Given the description of an element on the screen output the (x, y) to click on. 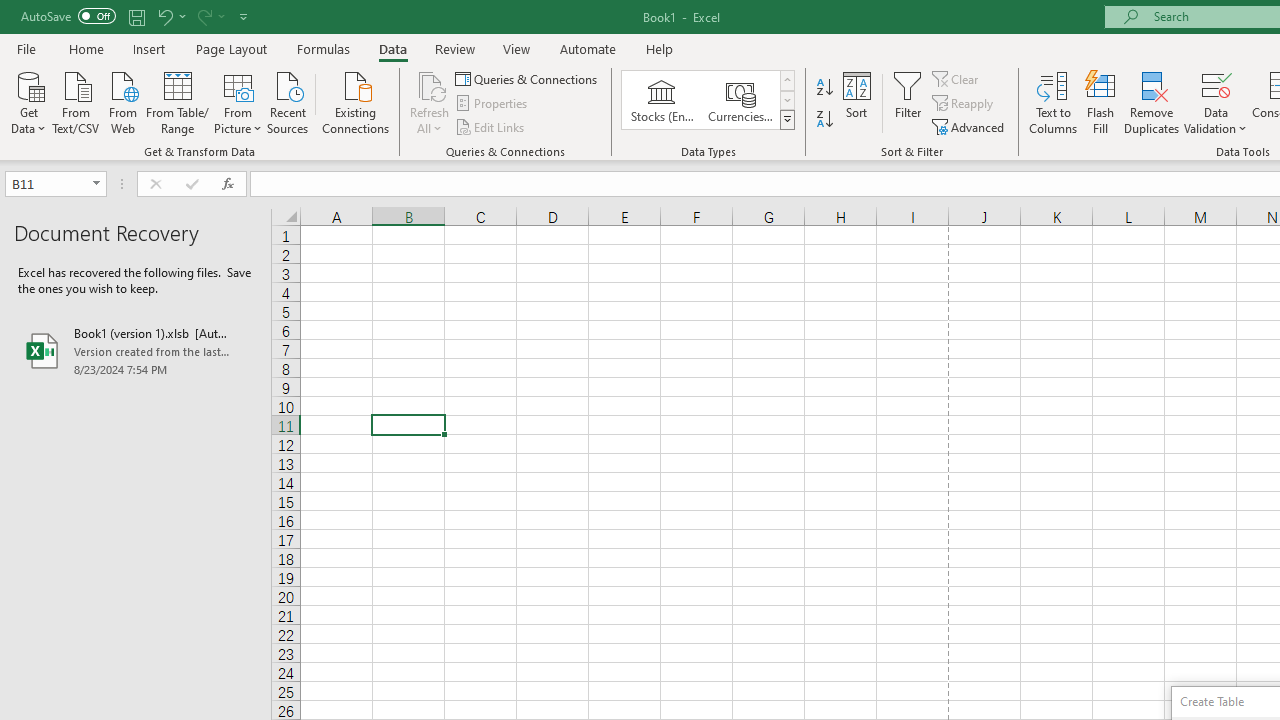
Sort Z to A (824, 119)
Data Types (786, 120)
Advanced... (970, 126)
Edit Links (491, 126)
From Picture (238, 101)
